Given the description of an element on the screen output the (x, y) to click on. 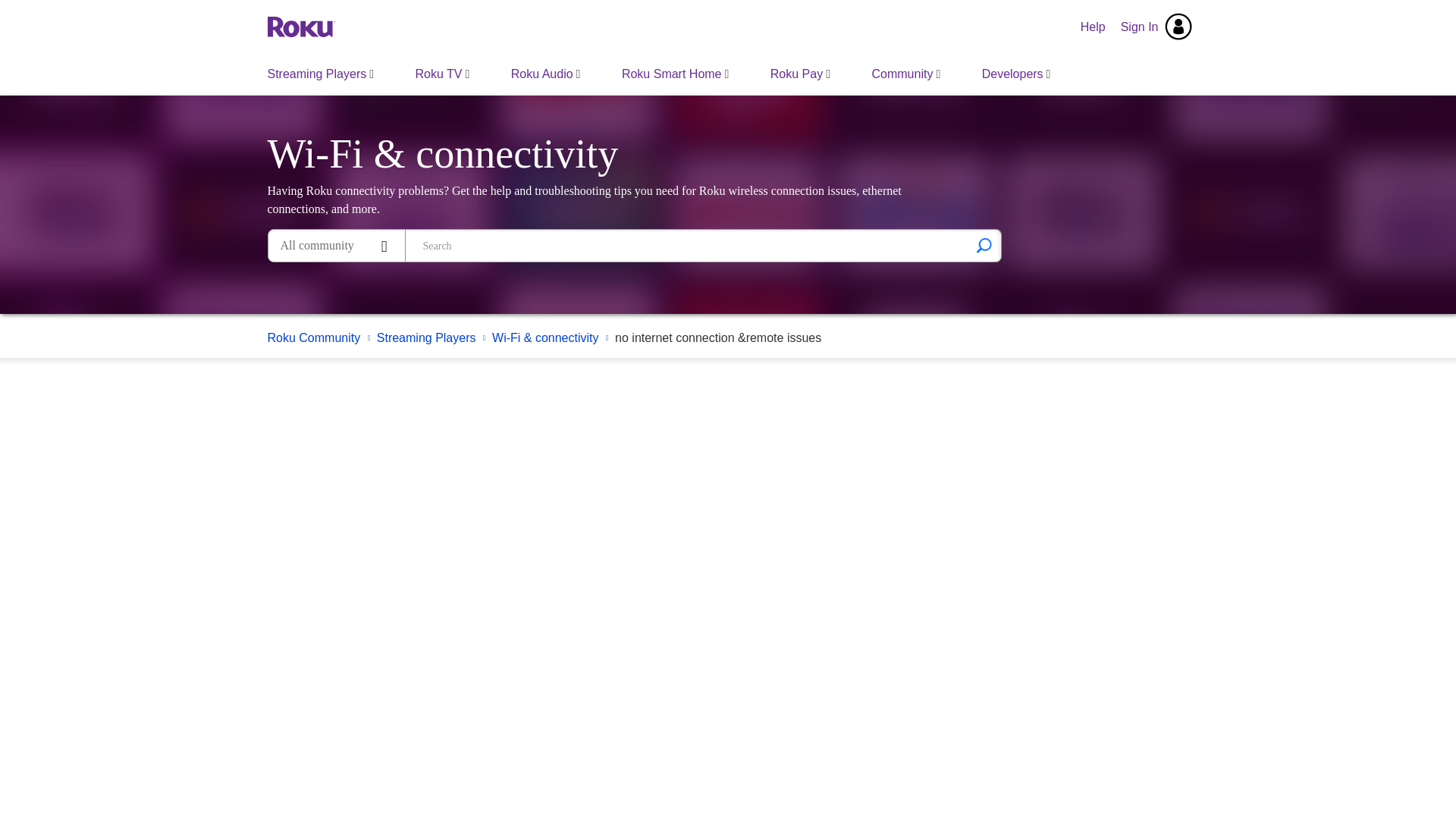
Roku Audio (545, 73)
Help (1093, 26)
Roku Community (300, 26)
Search (983, 245)
Roku Pay (799, 73)
Search Granularity (335, 245)
Sign In (1156, 26)
Roku TV (442, 73)
Roku Smart Home (675, 73)
Developers (1016, 73)
